Given the description of an element on the screen output the (x, y) to click on. 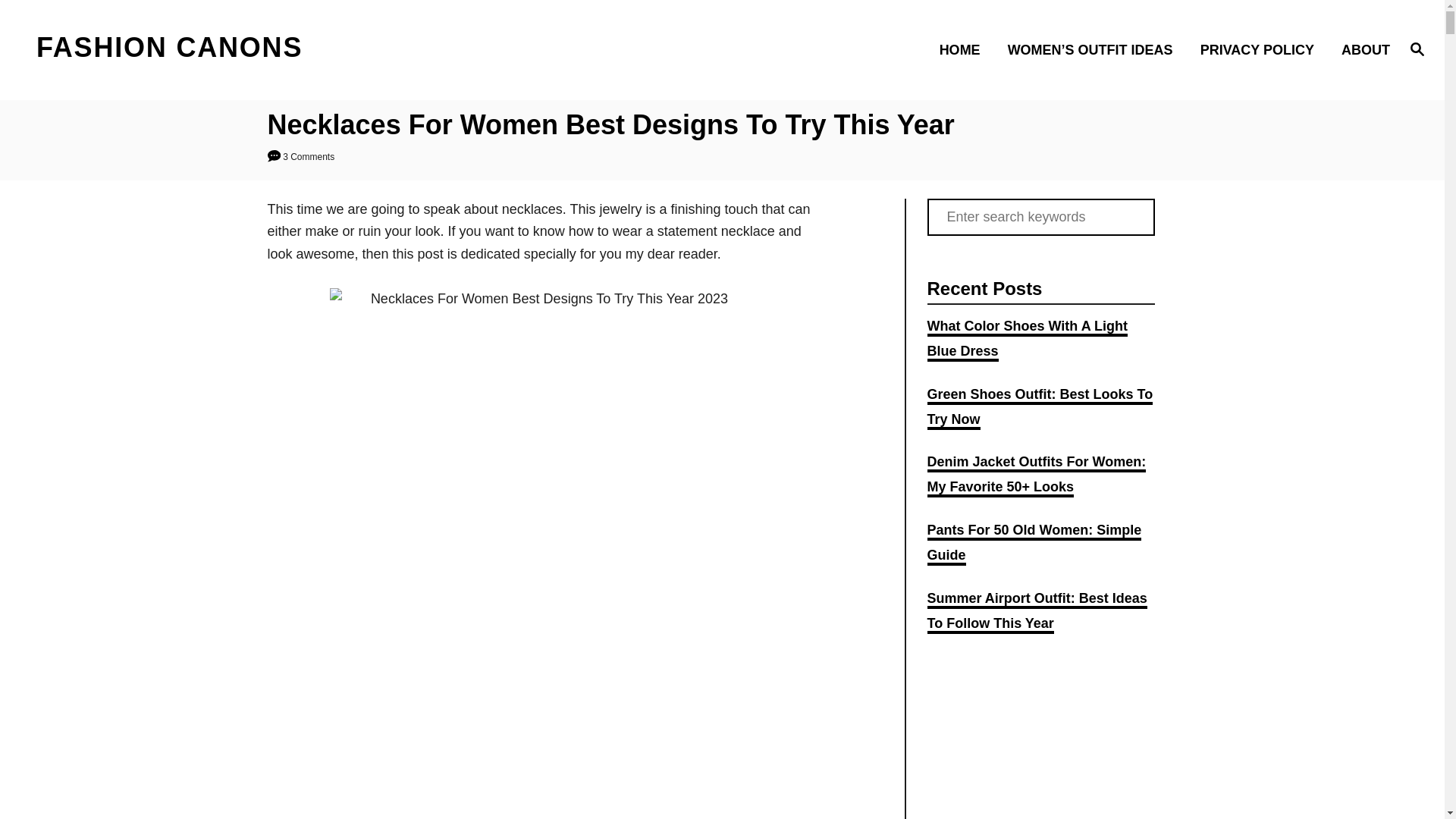
Fashion Canons (204, 49)
ABOUT (1361, 49)
FASHION CANONS (204, 49)
PRIVACY POLICY (1261, 49)
Magnifying Glass (1416, 48)
HOME (964, 49)
